Given the description of an element on the screen output the (x, y) to click on. 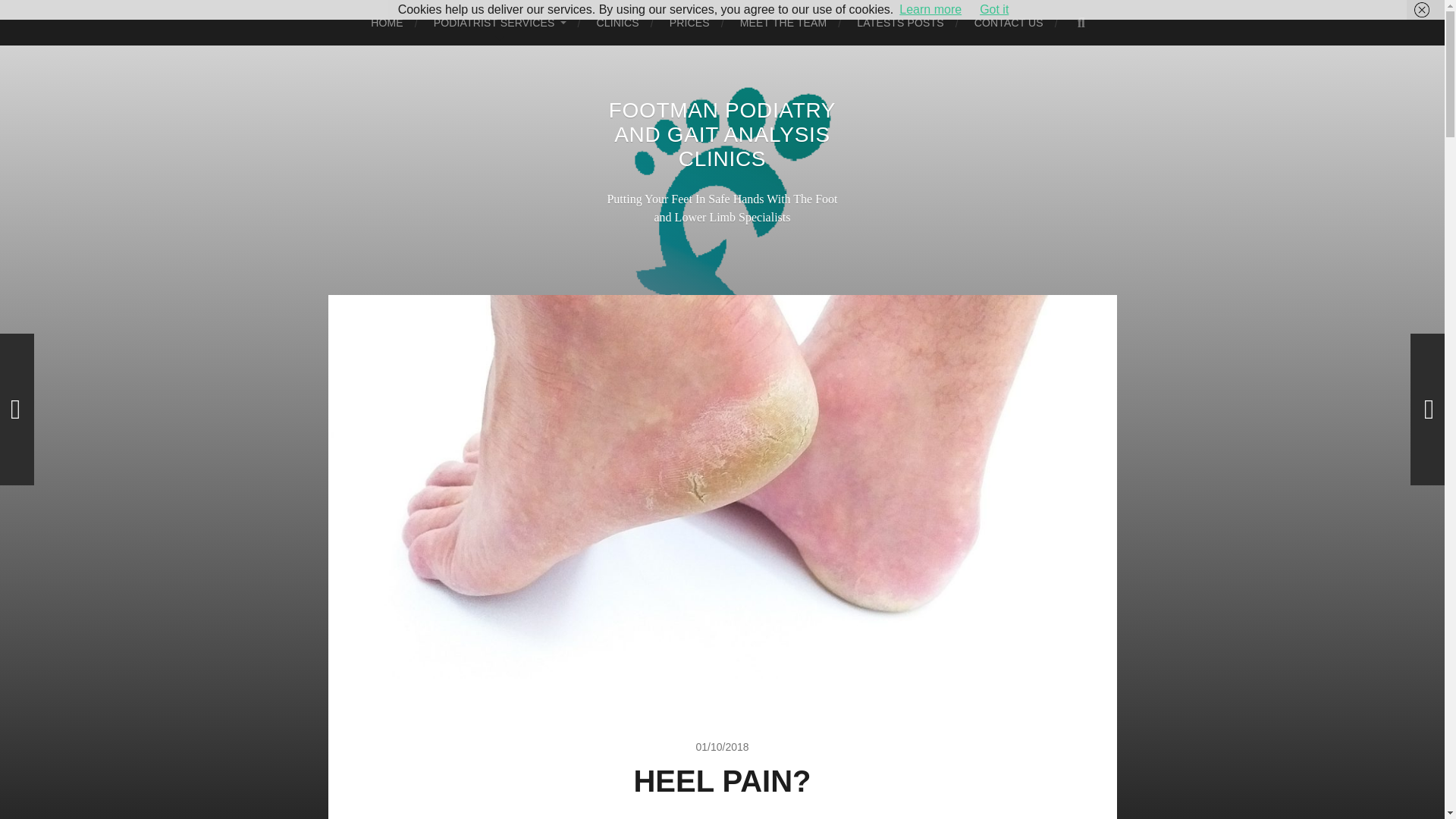
CONTACT US (1008, 22)
LATESTS POSTS (900, 22)
PODIATRIST SERVICES (499, 22)
FOOTMAN PODIATRY AND GAIT ANALYSIS CLINICS (721, 134)
MEET THE TEAM (783, 22)
CLINICS (617, 22)
